Given the description of an element on the screen output the (x, y) to click on. 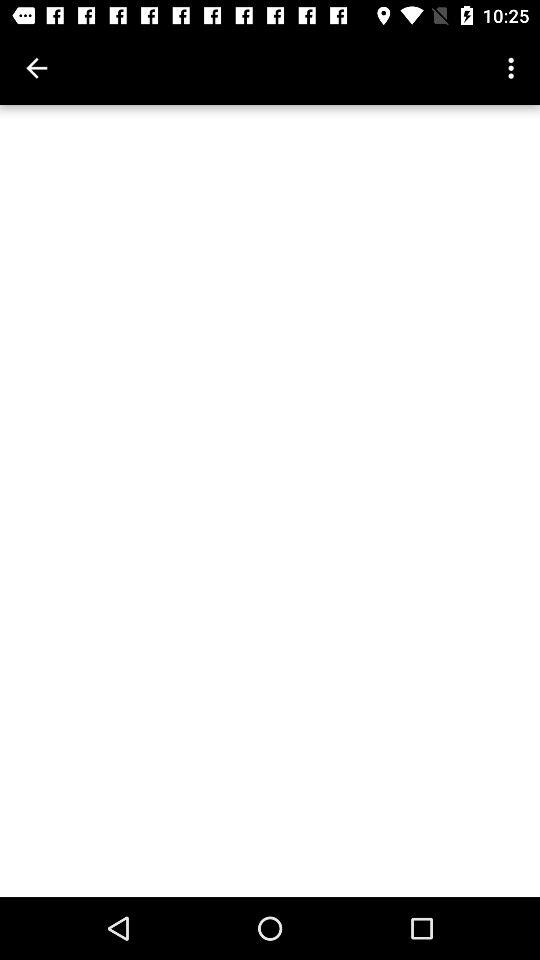
turn on icon at the top left corner (36, 68)
